Given the description of an element on the screen output the (x, y) to click on. 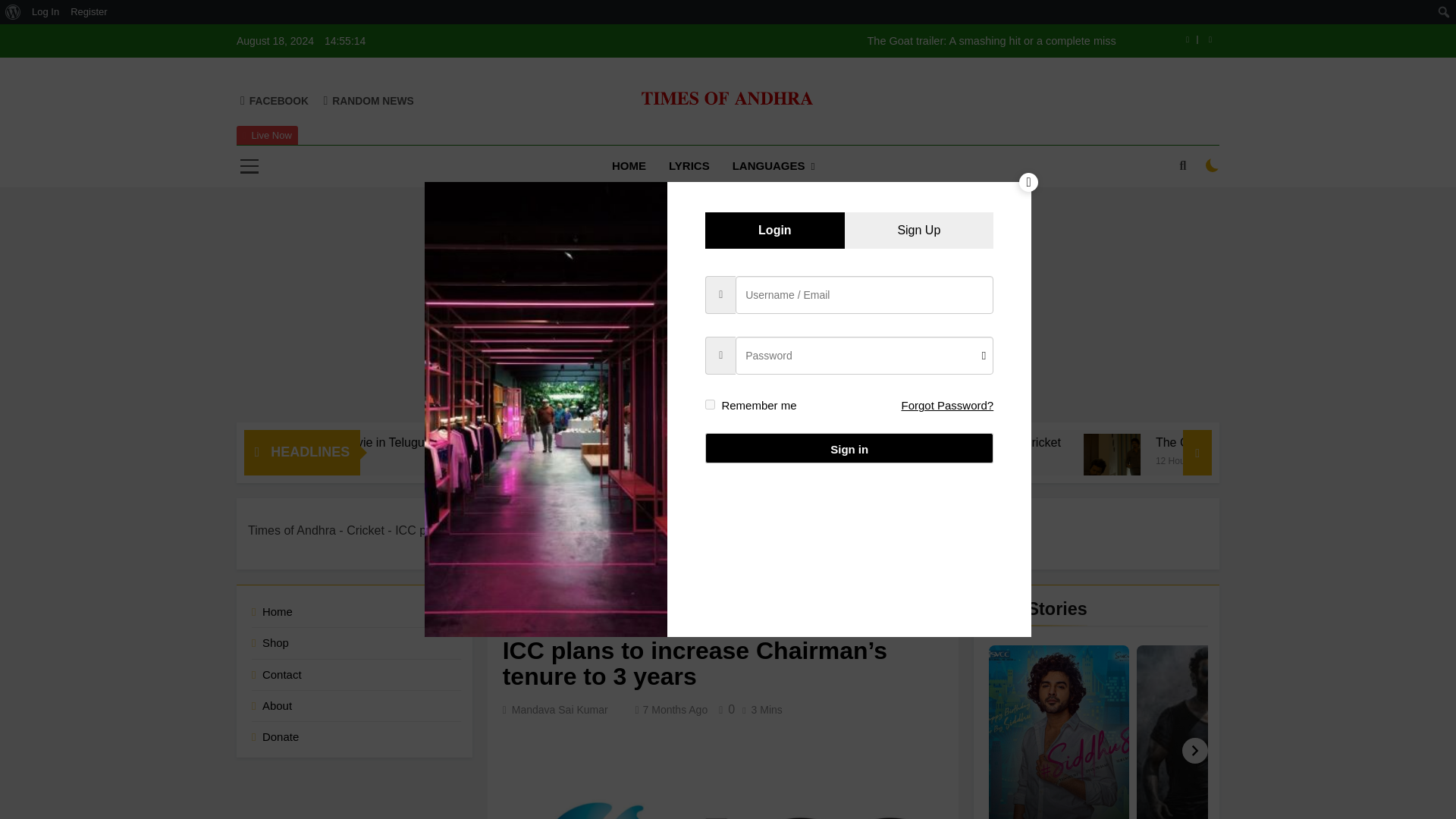
LYRICS (689, 165)
Log In (45, 12)
LANGUAGES (773, 166)
The Goat trailer: A smashing hit or a complete miss (824, 40)
forever (709, 404)
Search (16, 12)
Live Now (266, 135)
The Goat trailer: A smashing hit or a complete miss (824, 40)
HOME (628, 165)
